Given the description of an element on the screen output the (x, y) to click on. 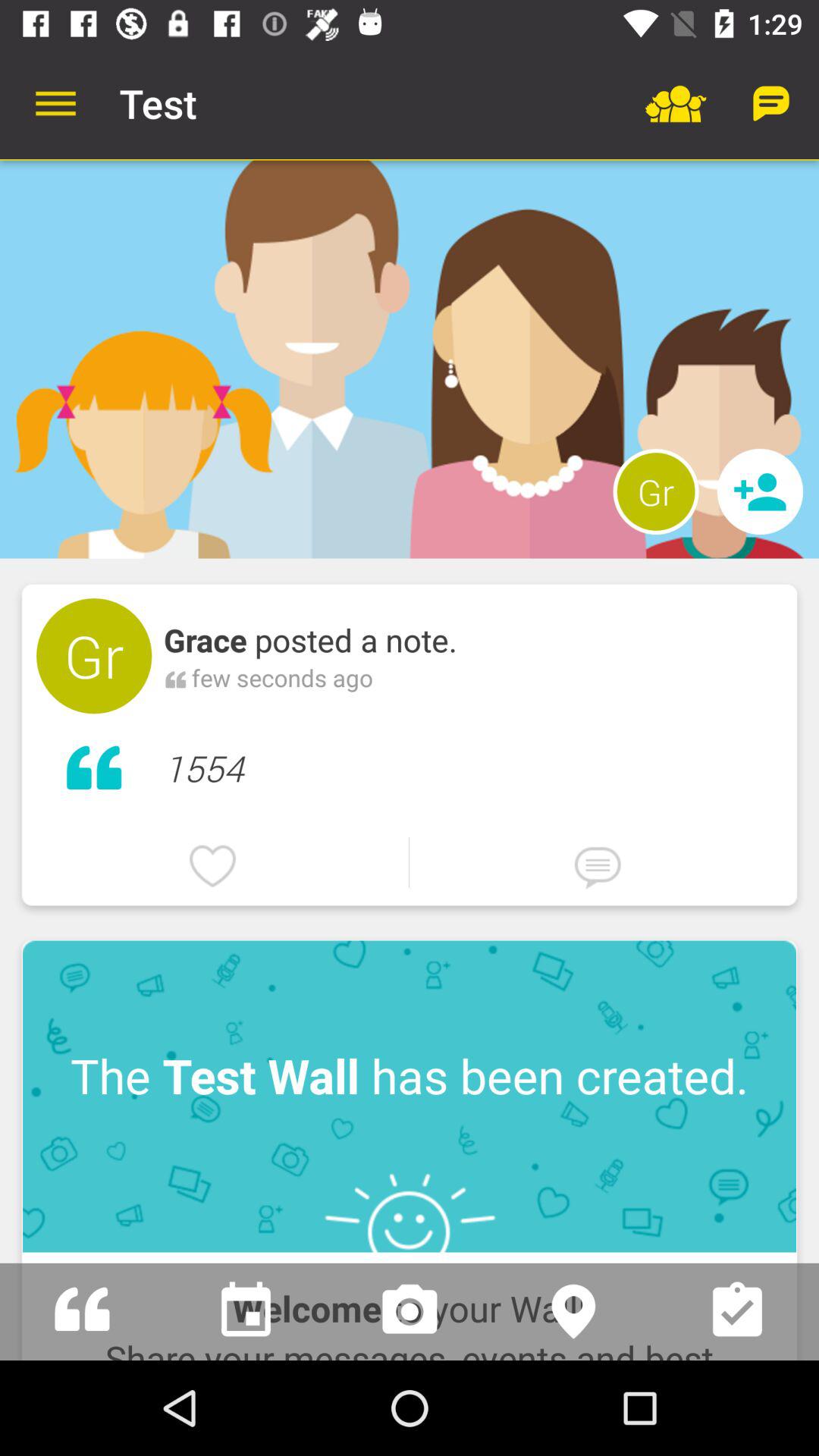
location information (573, 1311)
